Given the description of an element on the screen output the (x, y) to click on. 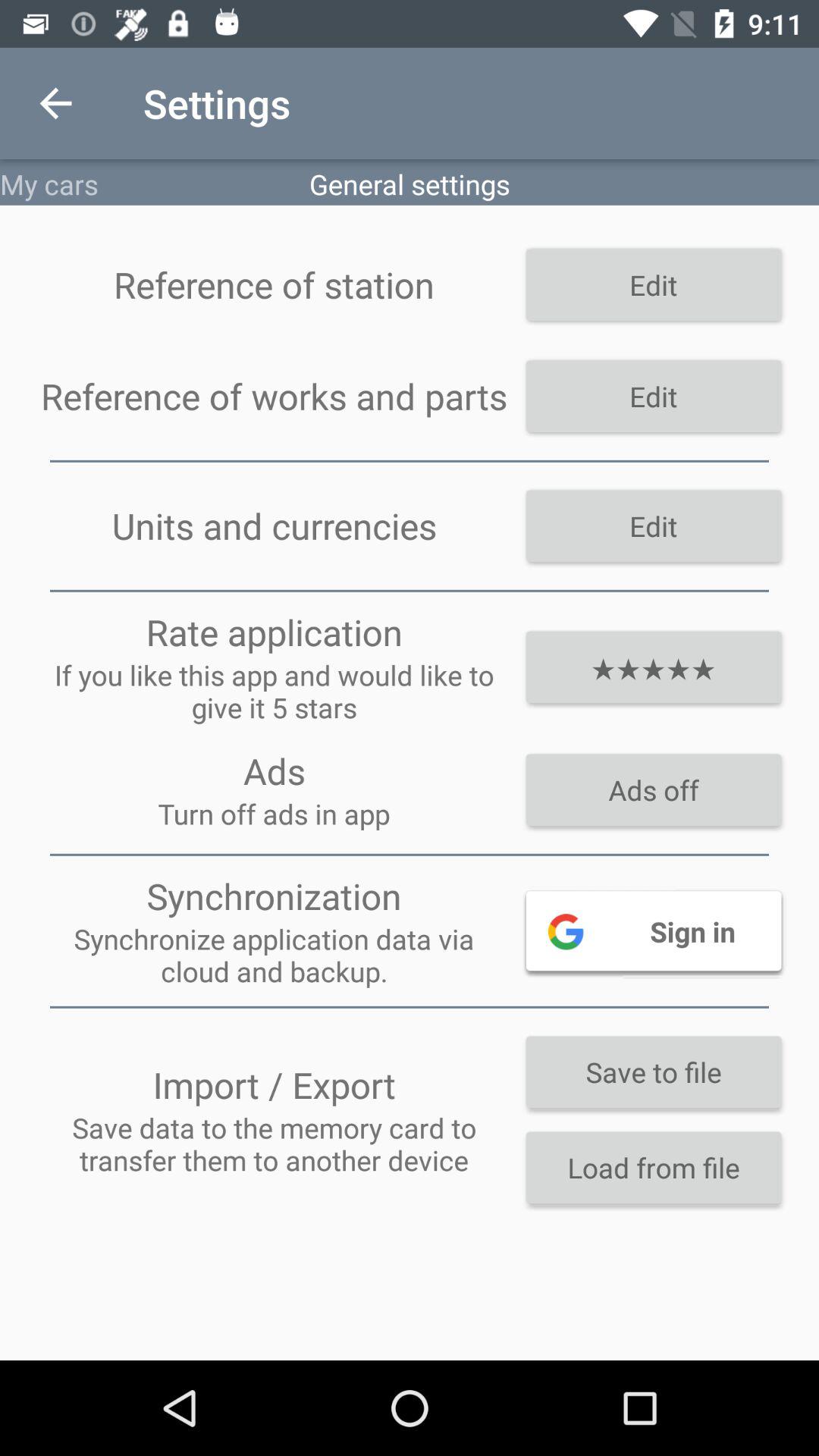
click item next to the settings icon (55, 103)
